Given the description of an element on the screen output the (x, y) to click on. 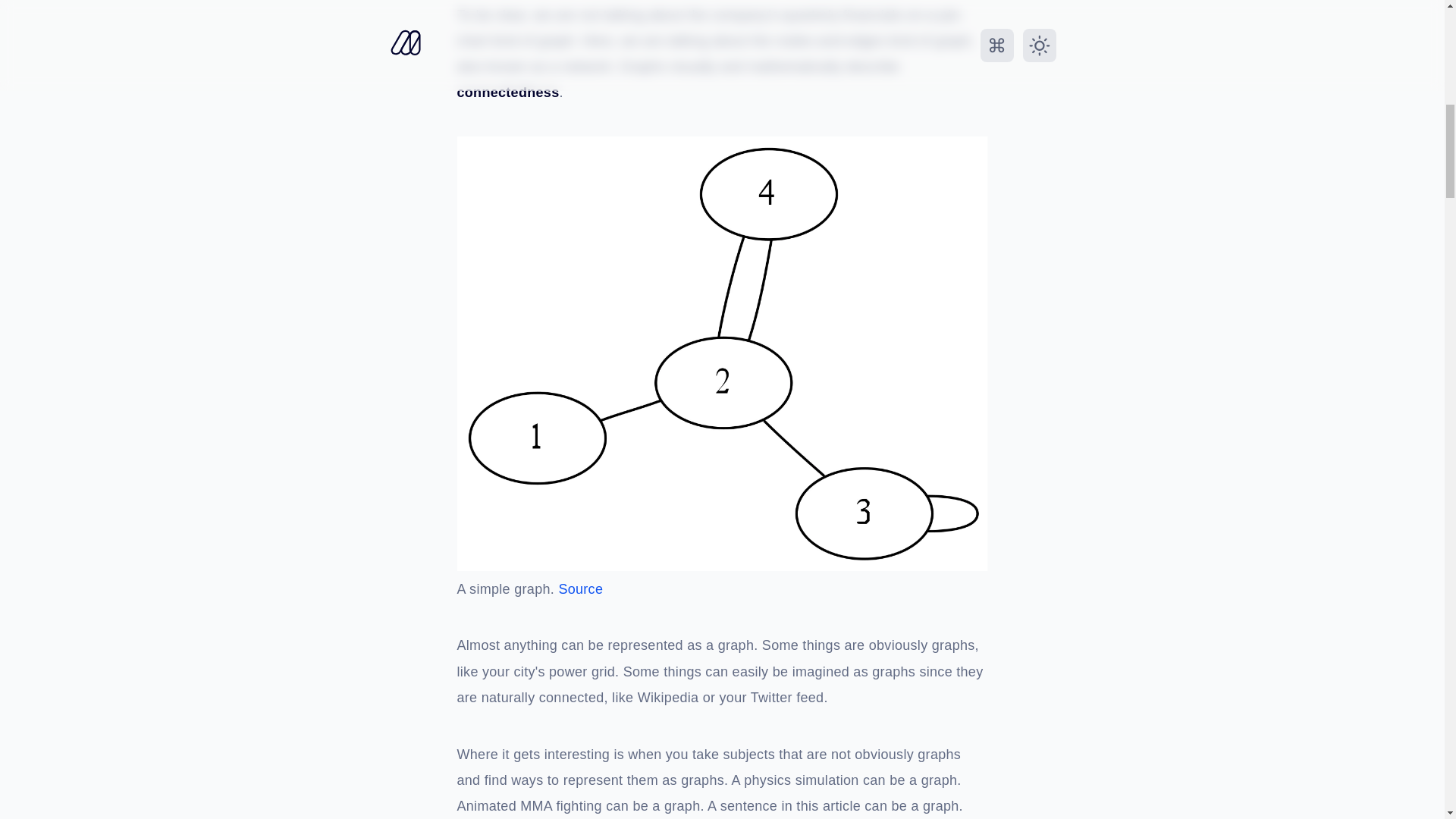
Source (579, 589)
